Given the description of an element on the screen output the (x, y) to click on. 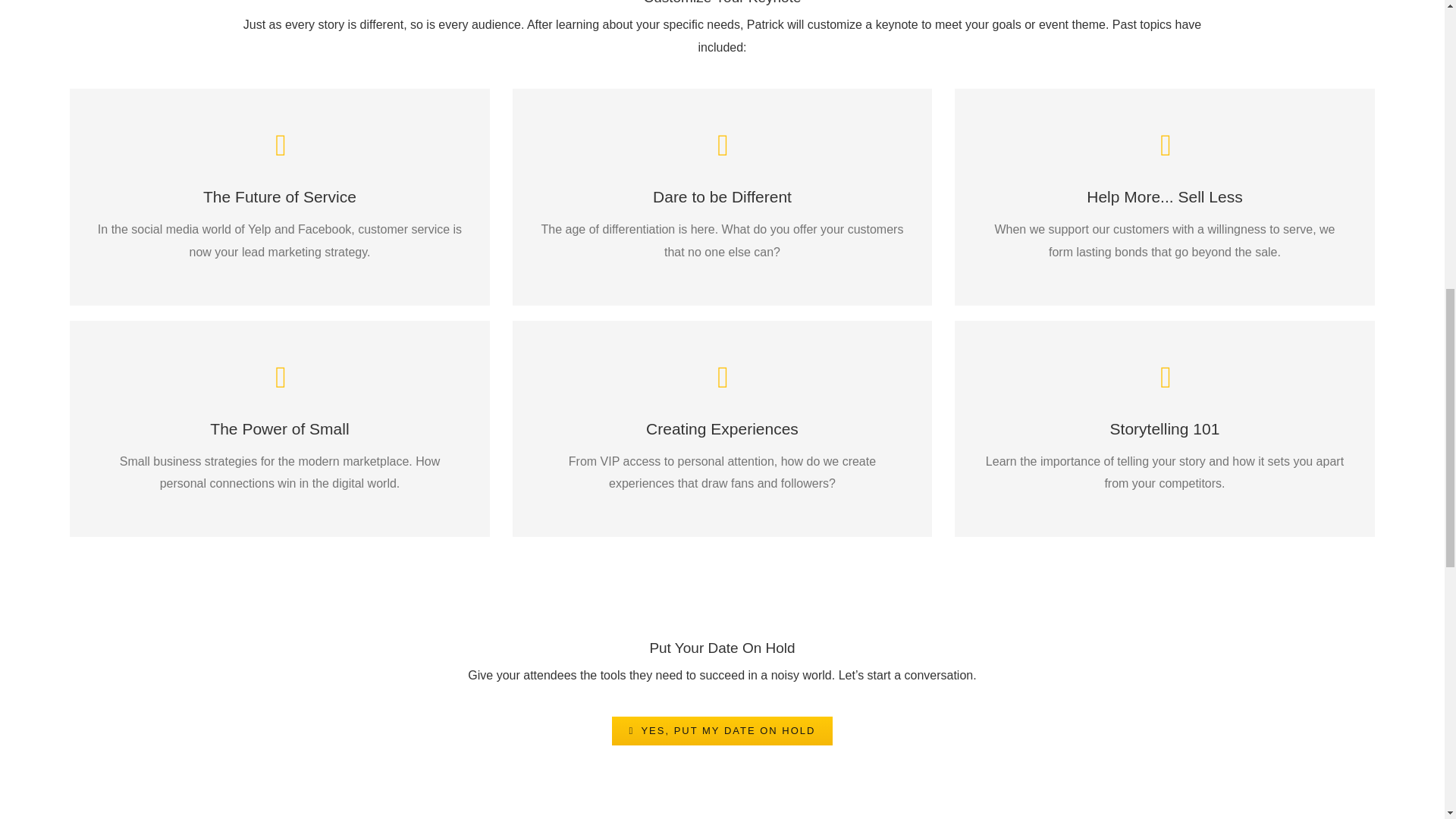
YES, PUT MY DATE ON HOLD (721, 730)
